Given the description of an element on the screen output the (x, y) to click on. 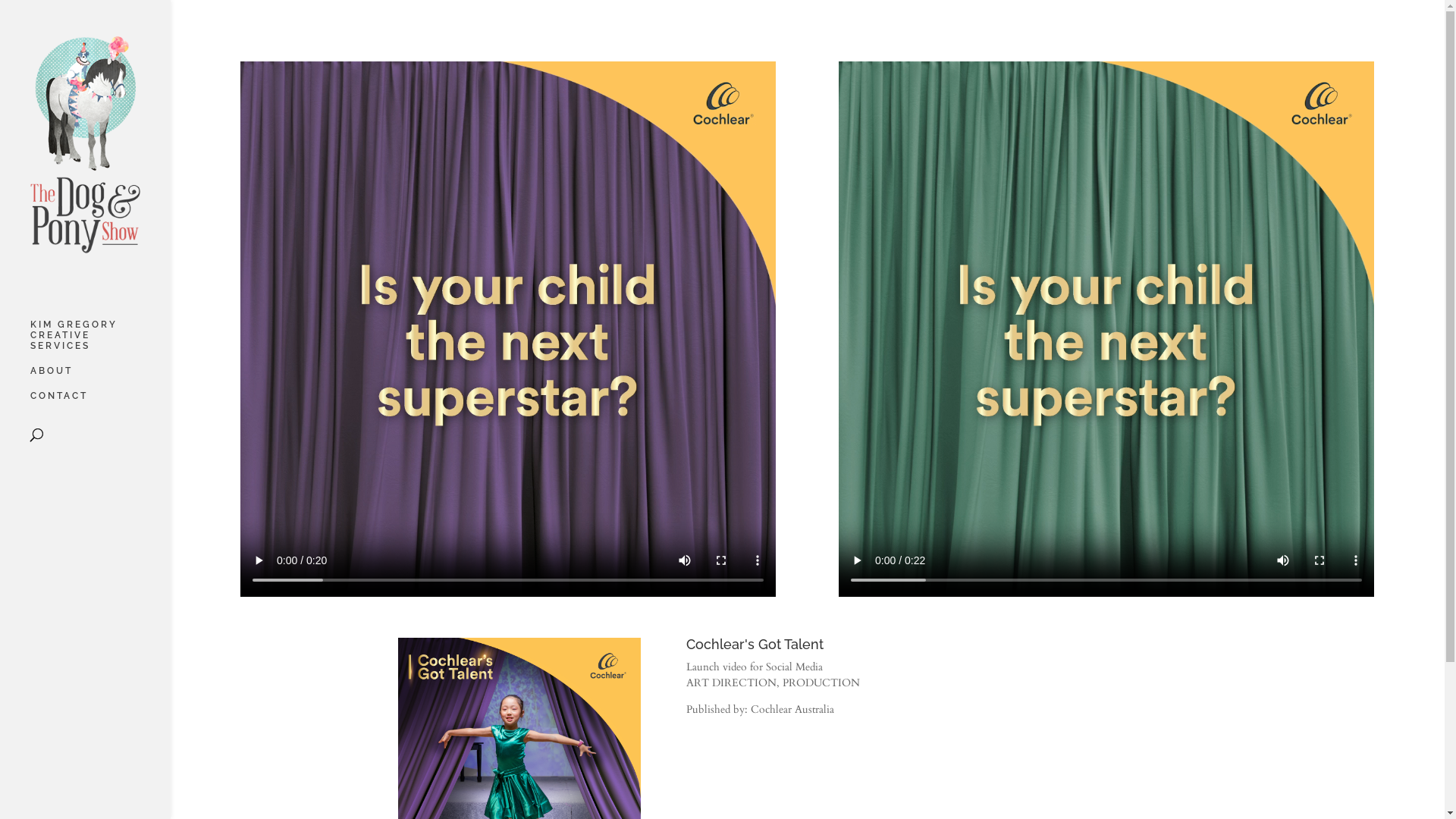
KIM GREGORY CREATIVE SERVICES Element type: text (100, 342)
CONTACT Element type: text (100, 402)
ABOUT Element type: text (100, 377)
